Given the description of an element on the screen output the (x, y) to click on. 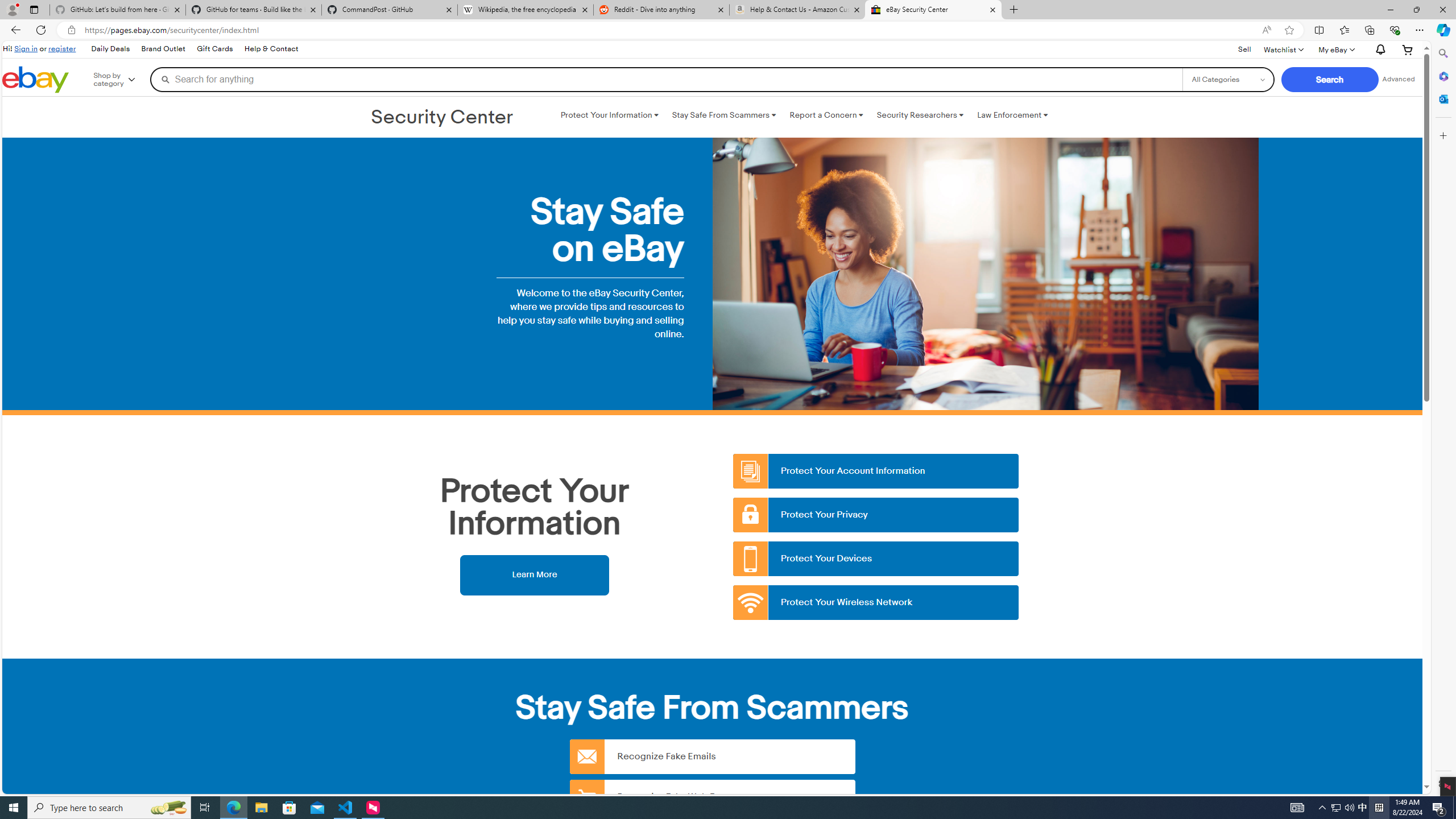
Help & Contact (270, 49)
Sell (1244, 49)
